Given the description of an element on the screen output the (x, y) to click on. 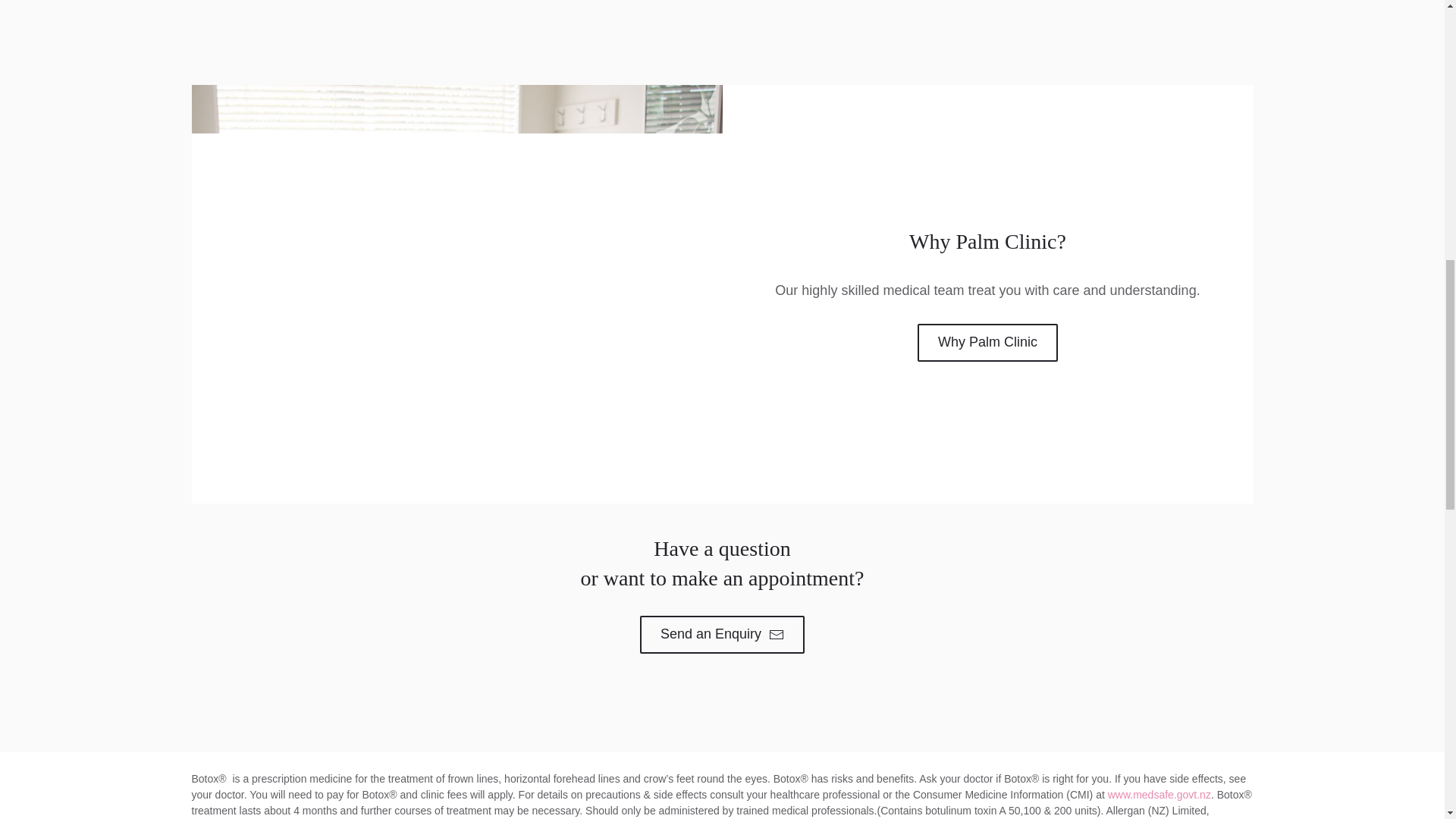
Have a question or want to make an appointment? (722, 634)
